Given the description of an element on the screen output the (x, y) to click on. 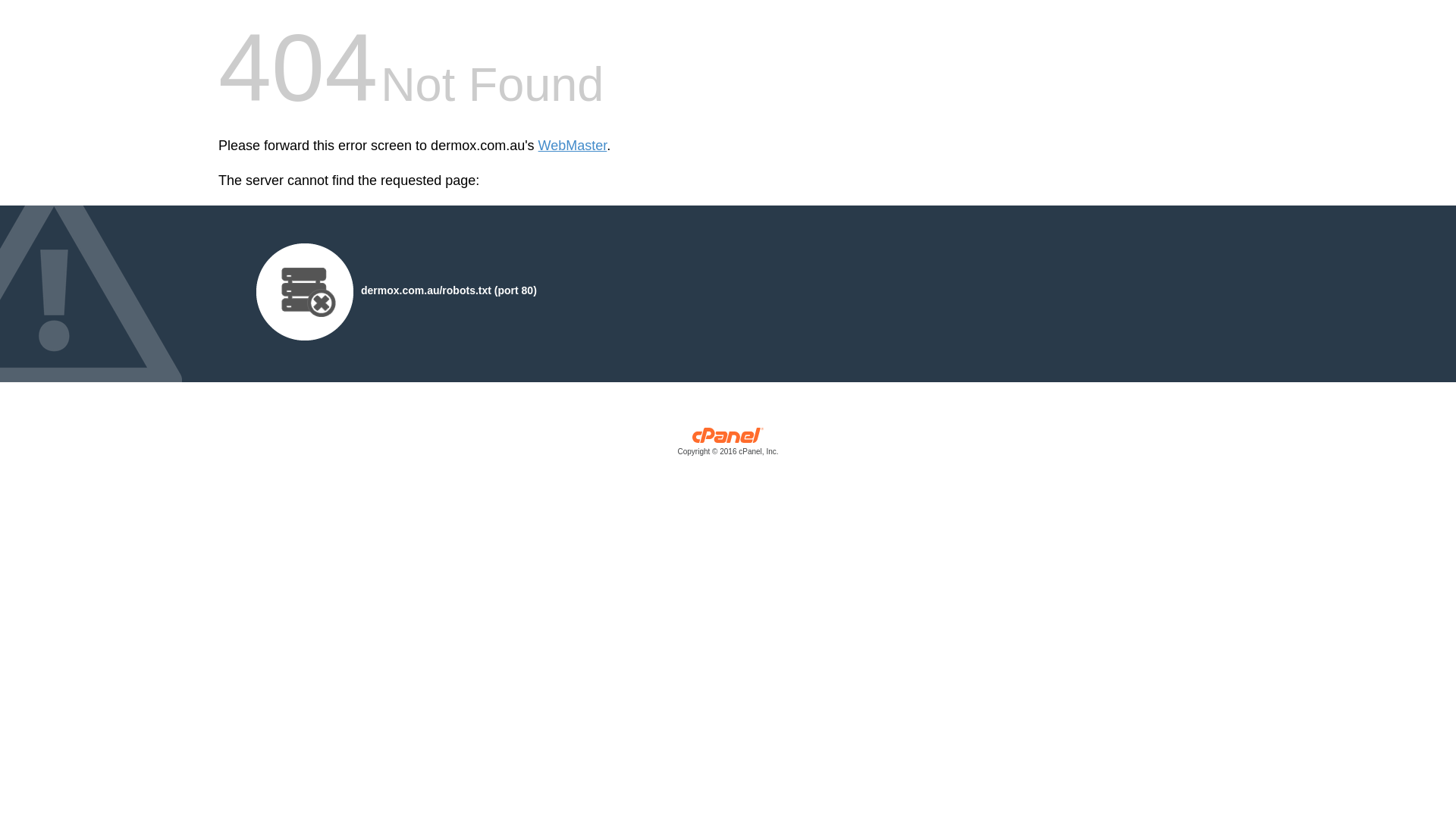
WebMaster Element type: text (572, 145)
